Given the description of an element on the screen output the (x, y) to click on. 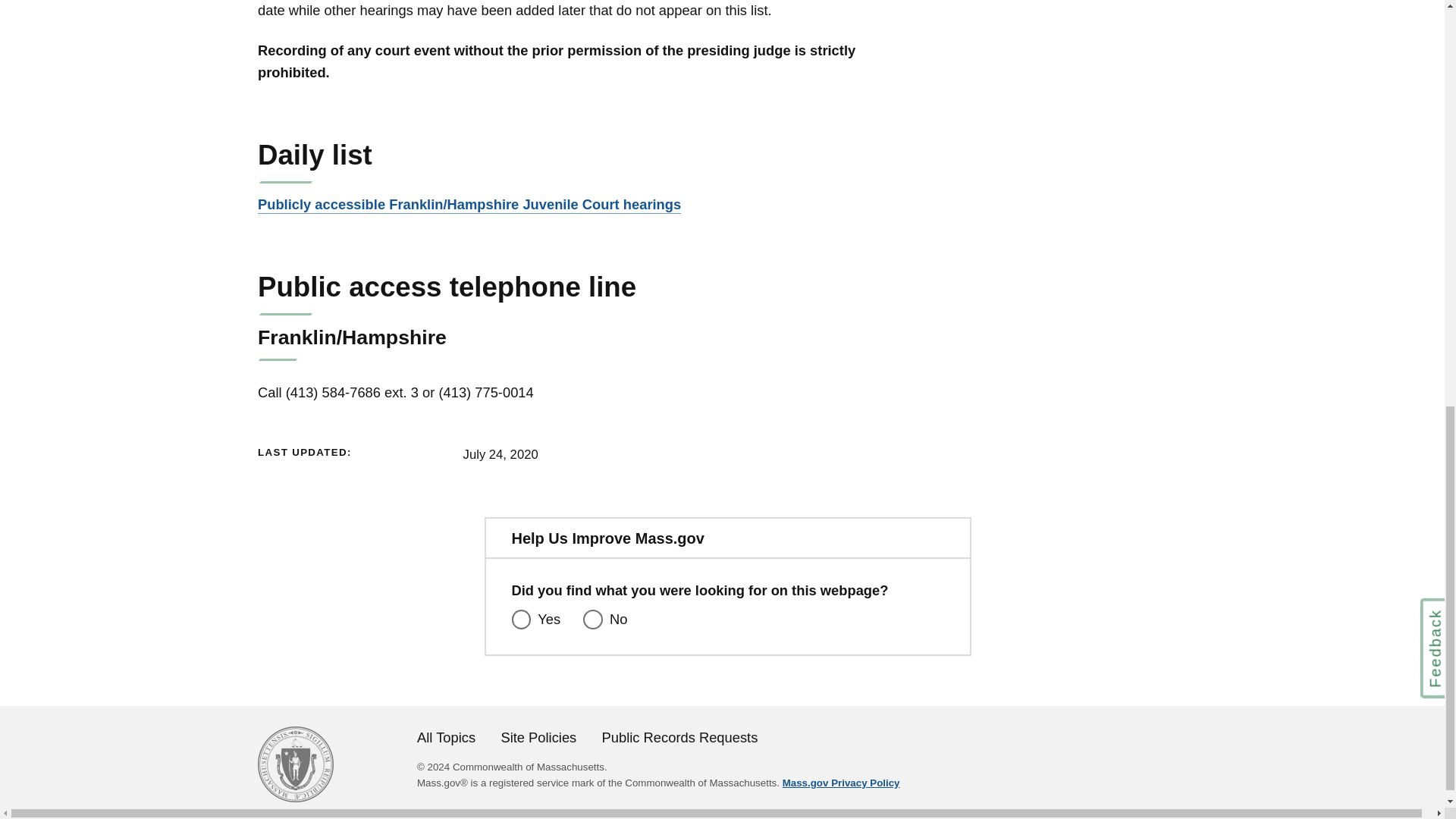
Mass.gov home page (295, 797)
